Given the description of an element on the screen output the (x, y) to click on. 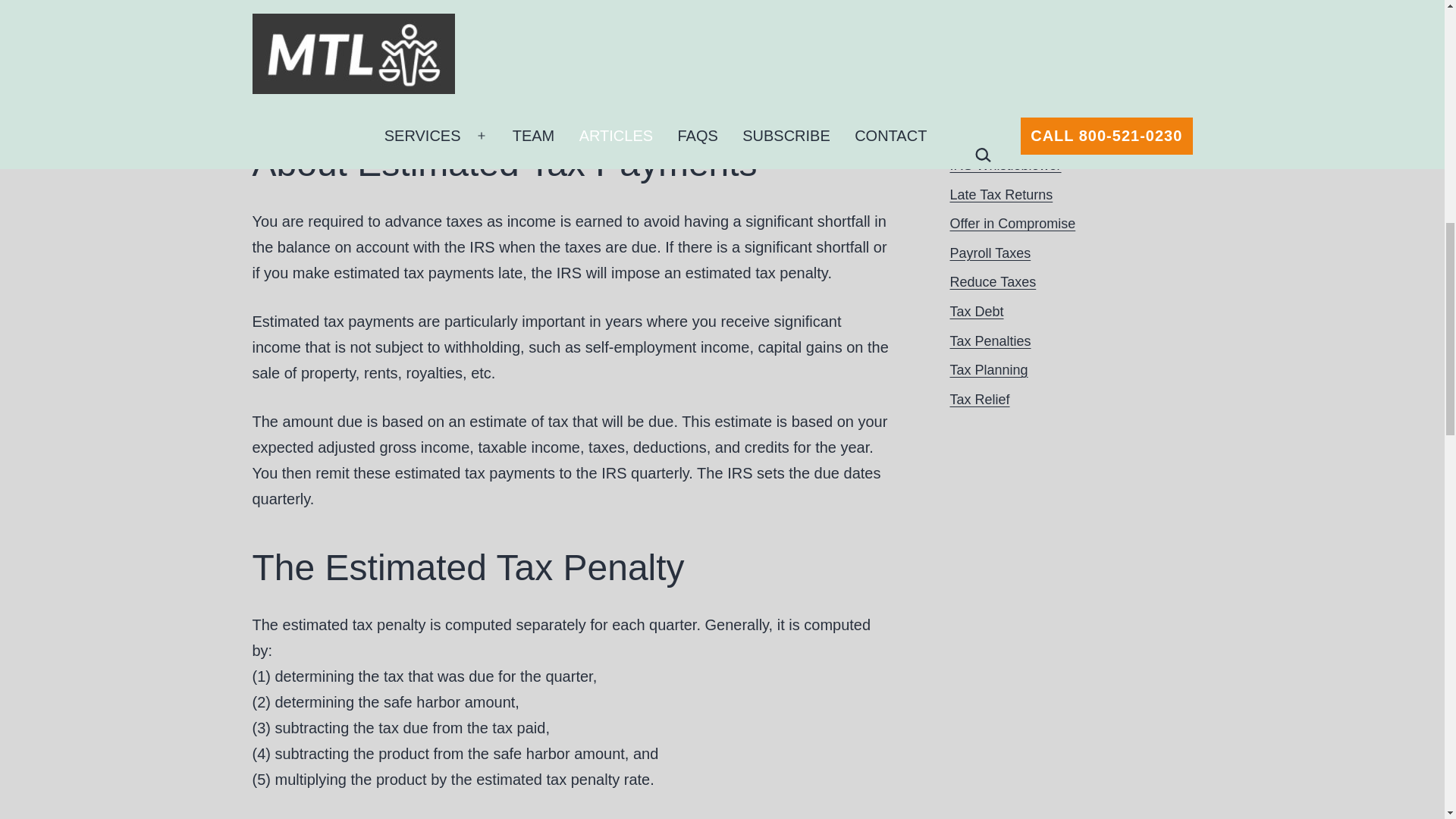
IRS Collections (995, 48)
IRS Collections (995, 18)
IRS Passport Certification (1027, 106)
